Given the description of an element on the screen output the (x, y) to click on. 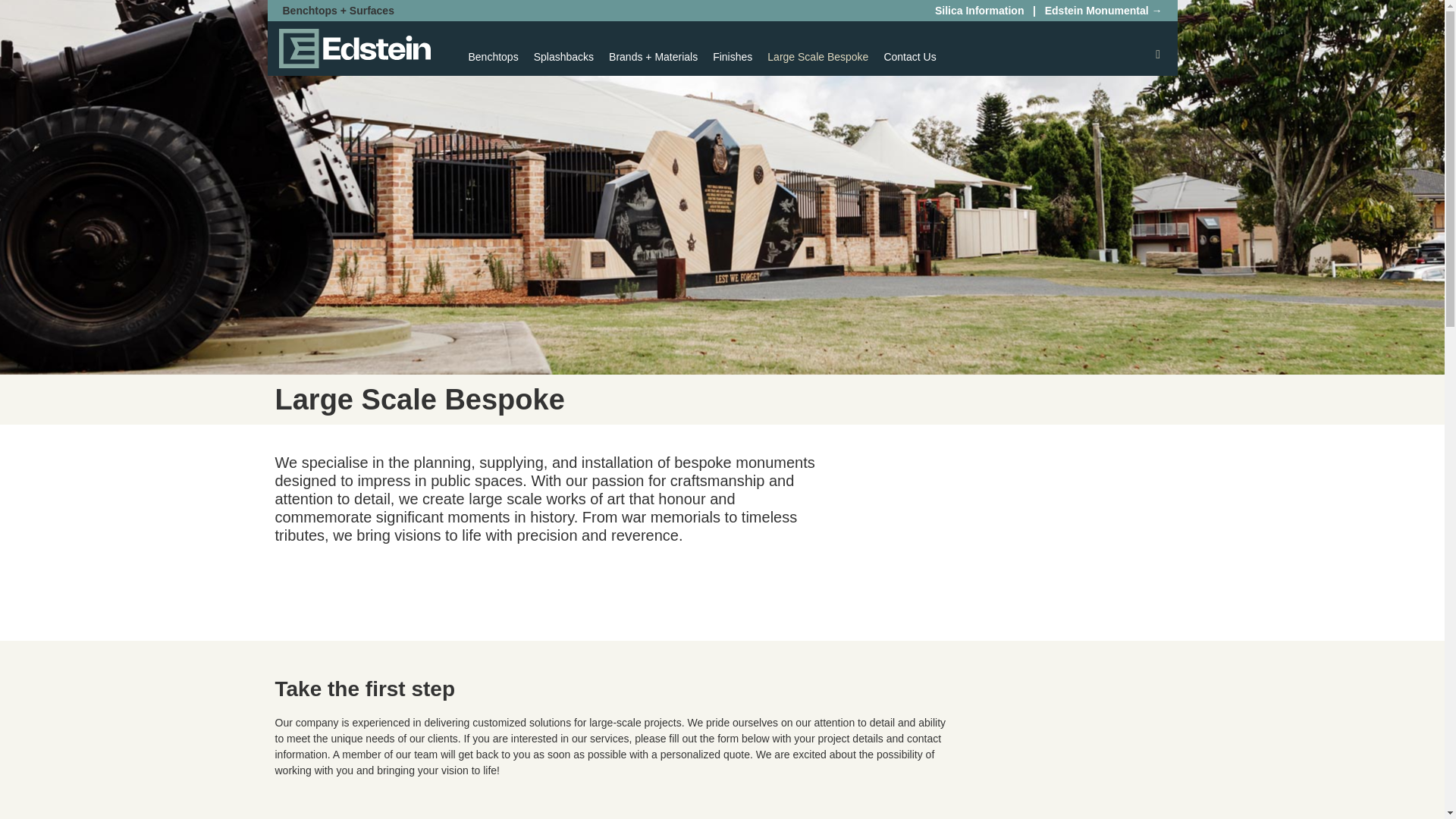
Contact Us (909, 56)
Benchtops (493, 56)
 Silica Information (977, 10)
Finishes (732, 56)
Large Scale Bespoke (818, 56)
Splashbacks (563, 56)
